Given the description of an element on the screen output the (x, y) to click on. 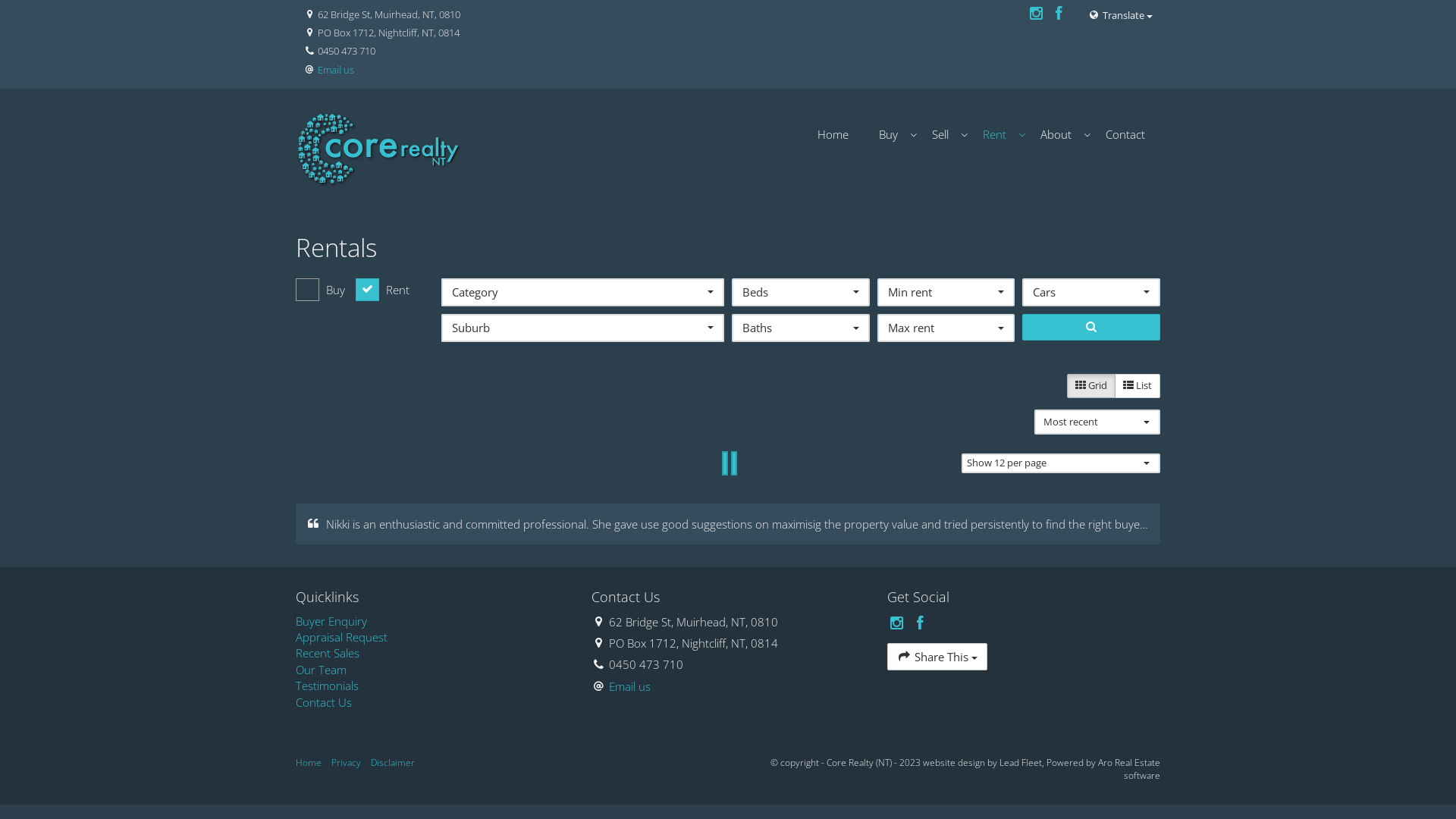
Appraisal Request Element type: text (431, 637)
Recent Sales Element type: text (431, 653)
Email us Element type: text (629, 685)
Disclaimer Element type: text (392, 762)
Most recent
  Element type: text (1097, 422)
Buy Element type: text (889, 134)
Sell Element type: text (941, 134)
Show 12 per page
  Element type: text (1061, 463)
Privacy Element type: text (345, 762)
Buyer Enquiry Element type: text (431, 620)
Max rent
  Element type: text (946, 327)
Buy Element type: text (320, 289)
Home Element type: text (832, 134)
Rent Element type: text (382, 289)
Category
  Element type: text (582, 292)
Share This Element type: text (937, 656)
Beds
  Element type: text (800, 292)
Core Realty (NT) Element type: hover (378, 148)
Our Team Element type: text (431, 669)
Contact Element type: text (1125, 134)
Home Element type: text (308, 762)
Lead Fleet Element type: text (1020, 762)
Rent Element type: text (996, 134)
Testimonials Element type: text (431, 685)
Cars
  Element type: text (1091, 292)
Suburb
  Element type: text (582, 327)
About Element type: text (1057, 134)
Translate Element type: text (1120, 14)
Aro Real Estate software Element type: text (1129, 768)
Baths
  Element type: text (800, 327)
Min rent
  Element type: text (946, 292)
Contact Us Element type: text (431, 702)
Email us Element type: text (335, 69)
